Given the description of an element on the screen output the (x, y) to click on. 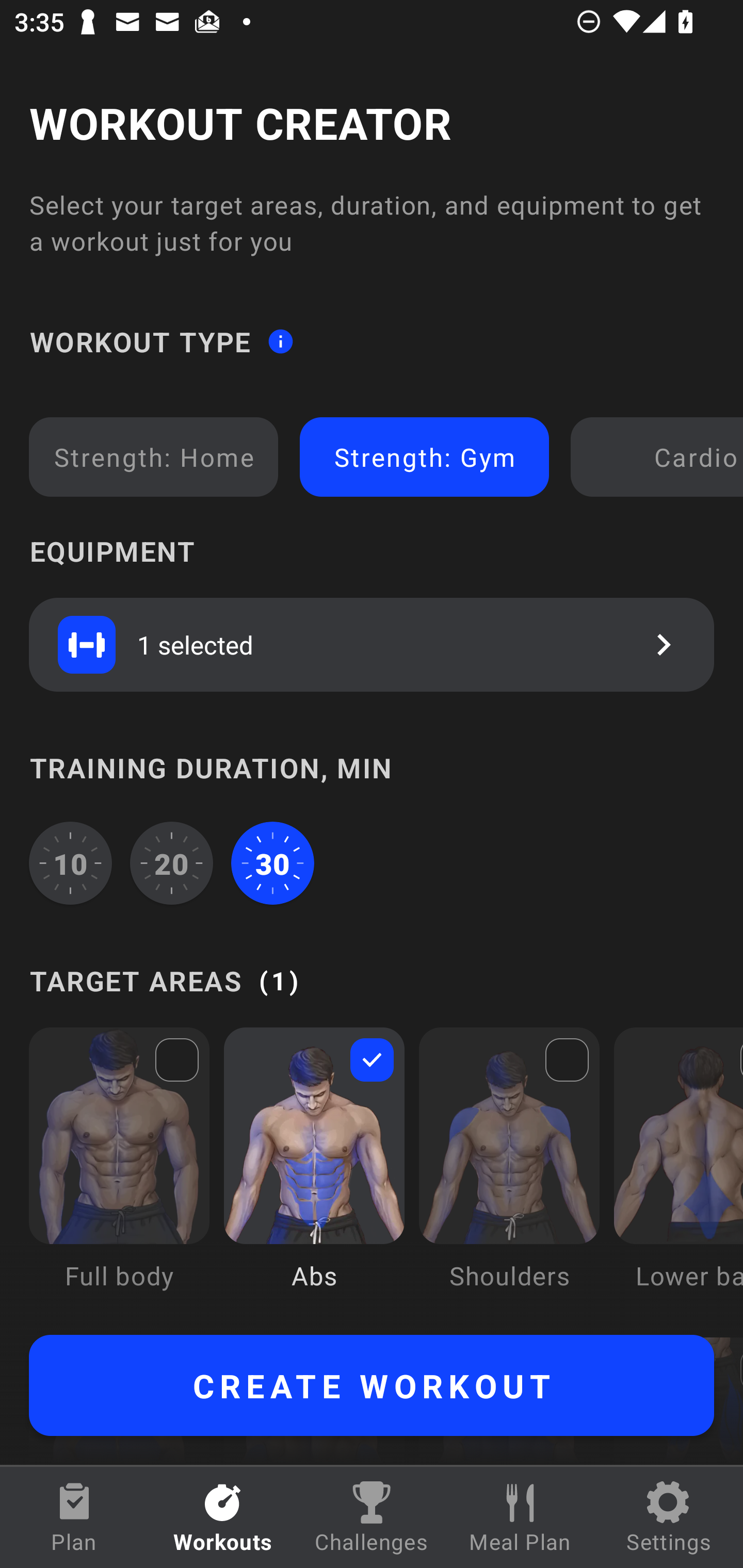
Workout type information button (280, 340)
Strength: Home (153, 457)
Cardio (660, 457)
1 selected (371, 644)
10 (70, 863)
20 (171, 863)
30 (272, 863)
Full body (118, 1172)
Shoulders (509, 1172)
Lower back (678, 1172)
CREATE WORKOUT (371, 1385)
 Plan  (74, 1517)
 Challenges  (371, 1517)
 Meal Plan  (519, 1517)
 Settings  (668, 1517)
